Given the description of an element on the screen output the (x, y) to click on. 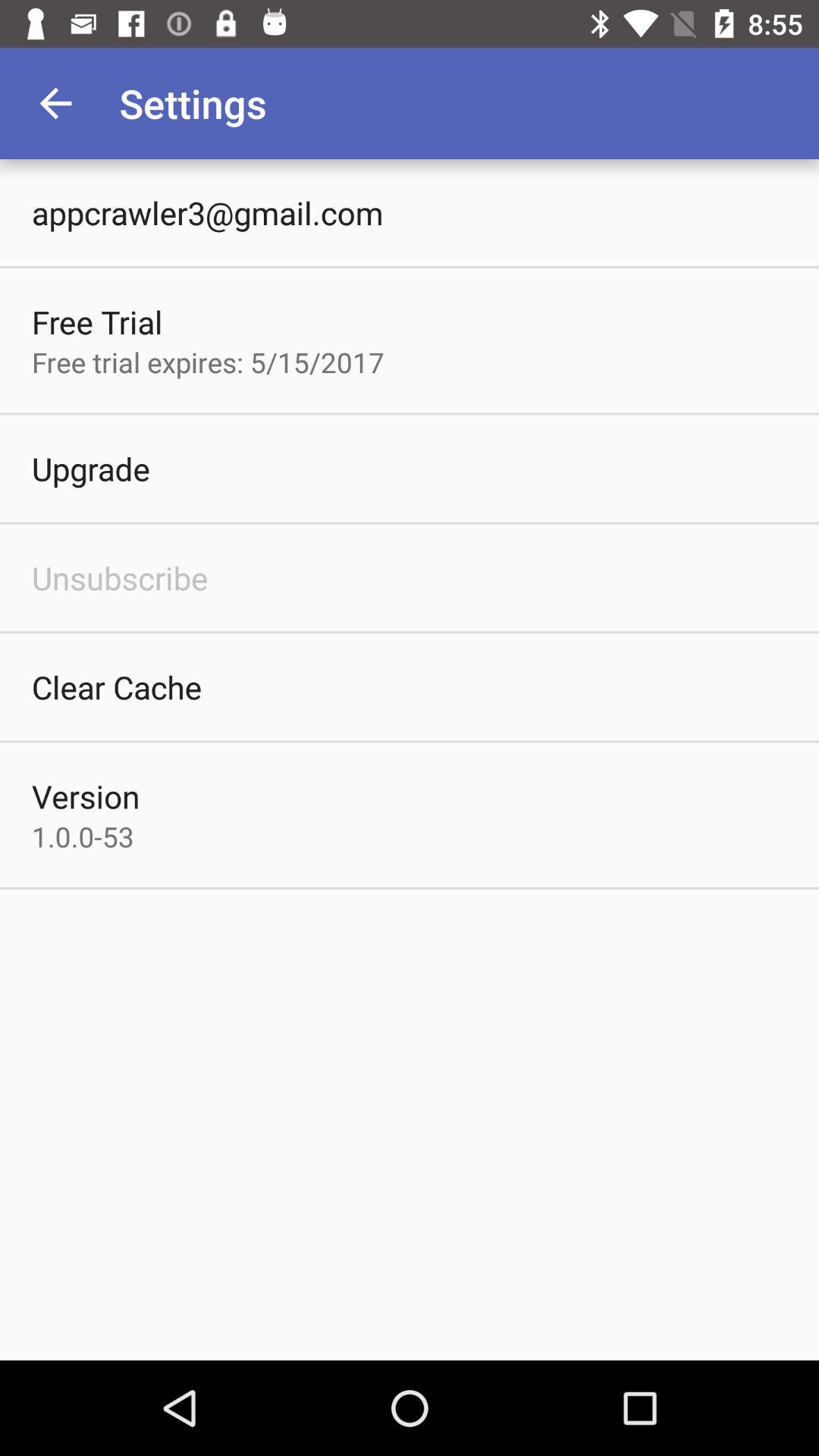
press unsubscribe (119, 577)
